Given the description of an element on the screen output the (x, y) to click on. 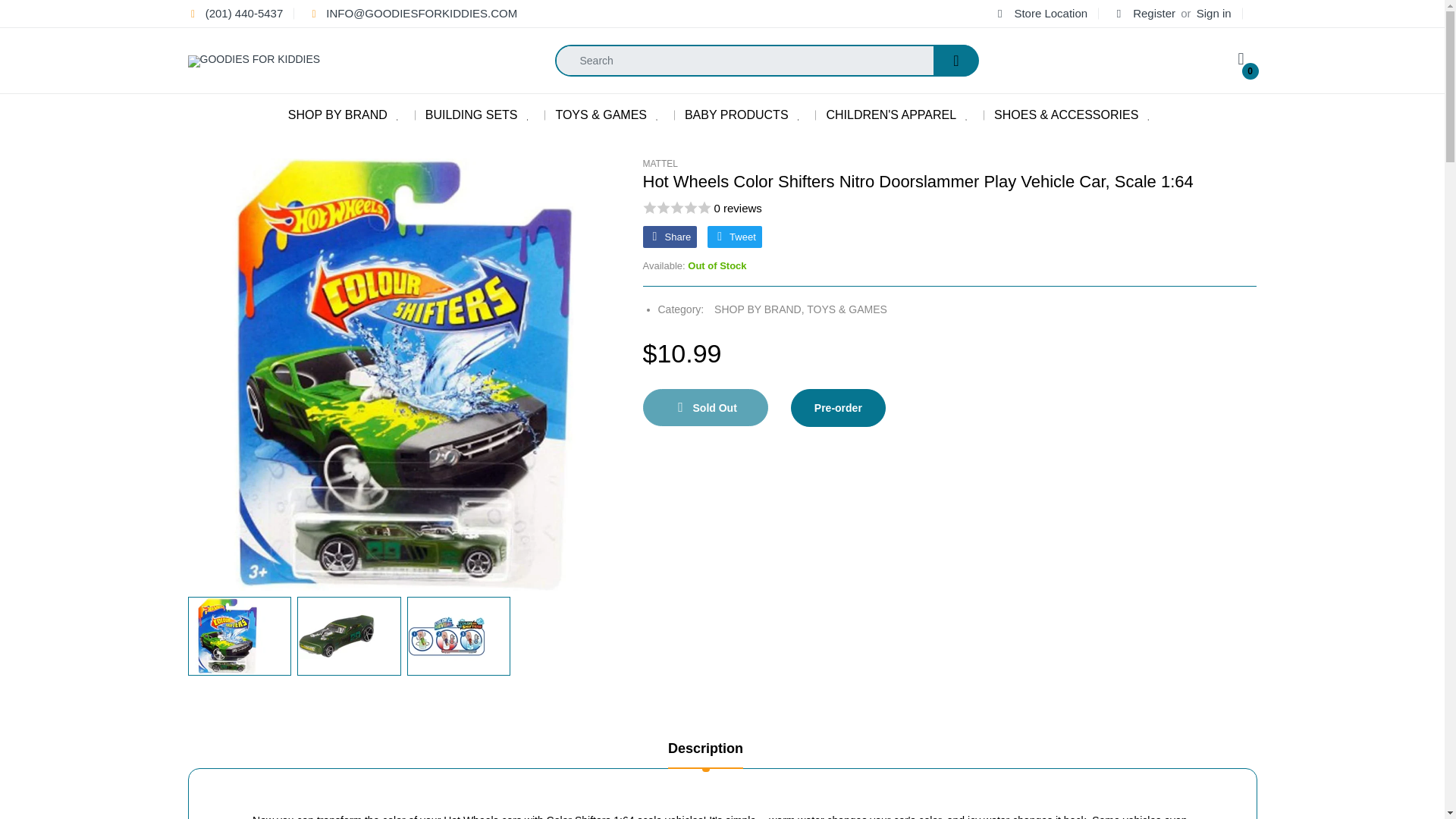
Register (1145, 12)
Sign in (1213, 12)
GOODIES FOR KIDDIES (253, 60)
Register (1145, 12)
Sign in (1213, 12)
Twitter (734, 237)
MATTEL (660, 163)
Facebook (670, 237)
BUILDING SETS (471, 114)
Store Location (1040, 12)
